Given the description of an element on the screen output the (x, y) to click on. 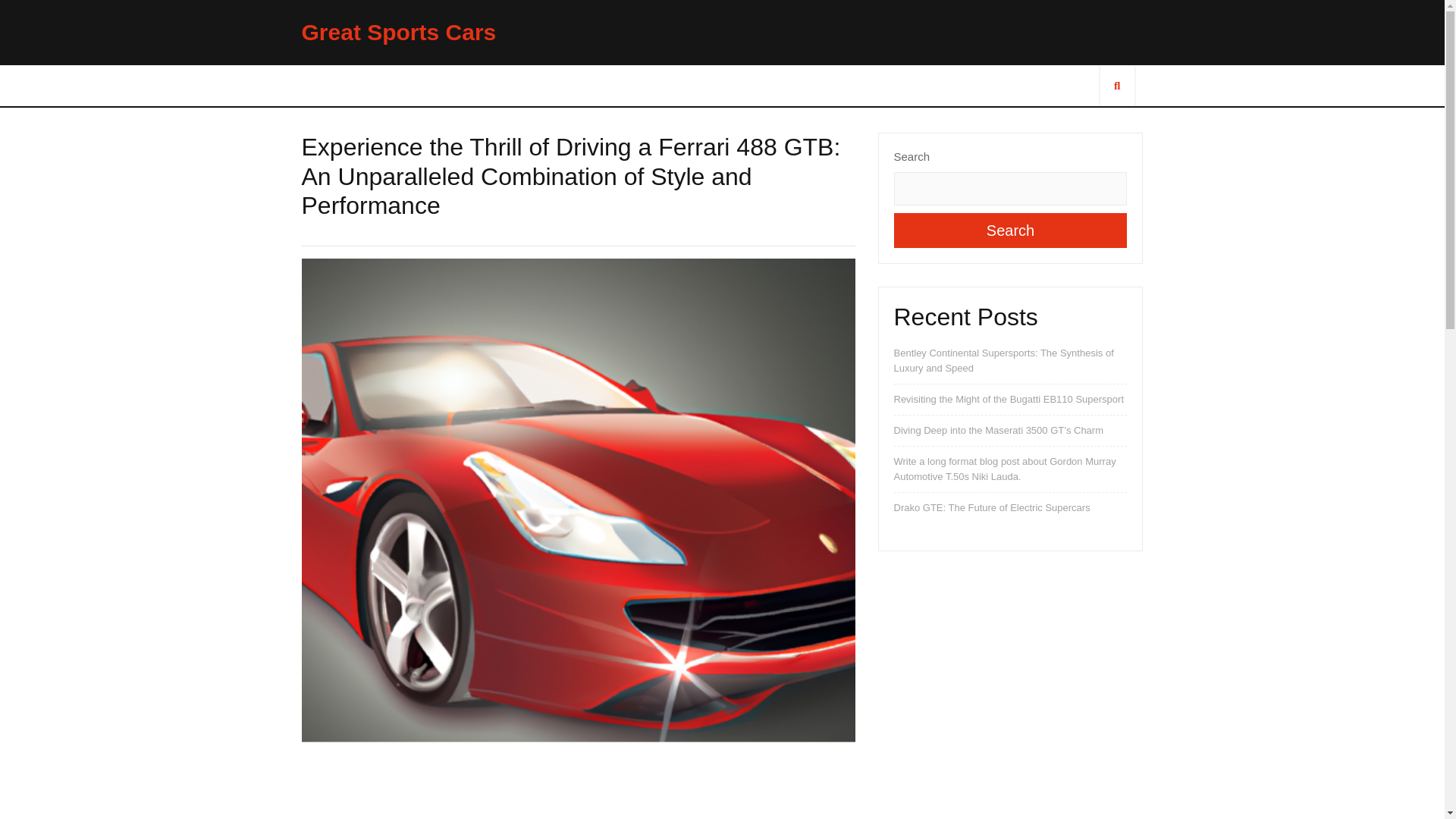
Revisiting the Might of the Bugatti EB110 Supersport (1008, 398)
Search (1009, 230)
Great Sports Cars (398, 32)
Drako GTE: The Future of Electric Supercars (991, 507)
